Given the description of an element on the screen output the (x, y) to click on. 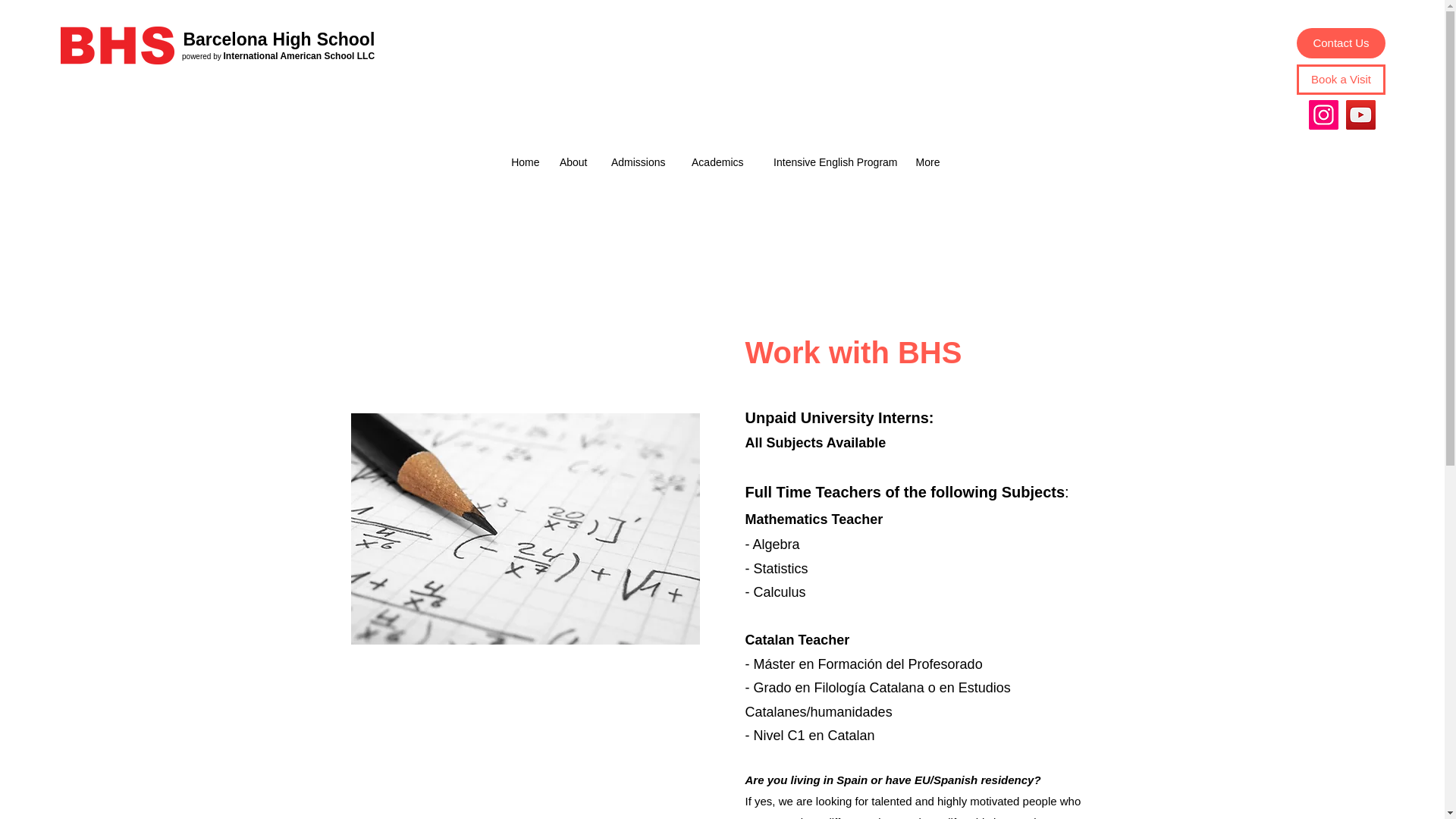
Book a Visit (1341, 79)
 Barcelona (222, 39)
Contact Us (1341, 42)
Home (523, 161)
Intensive English Program (827, 161)
